Given the description of an element on the screen output the (x, y) to click on. 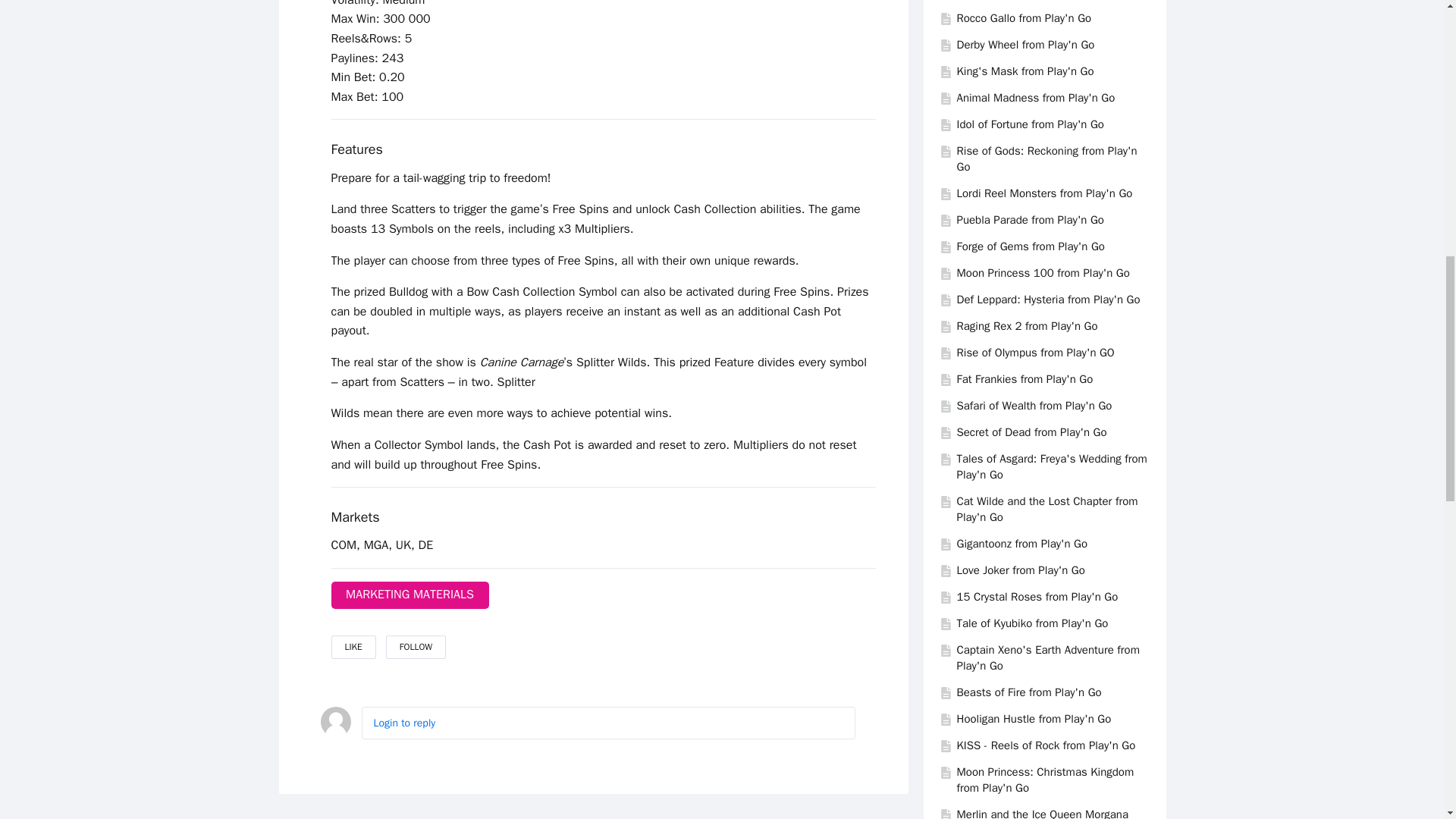
Login to reply (403, 722)
  MARKETING MATERIALS   (408, 595)
Markets (354, 517)
Features (355, 149)
